Given the description of an element on the screen output the (x, y) to click on. 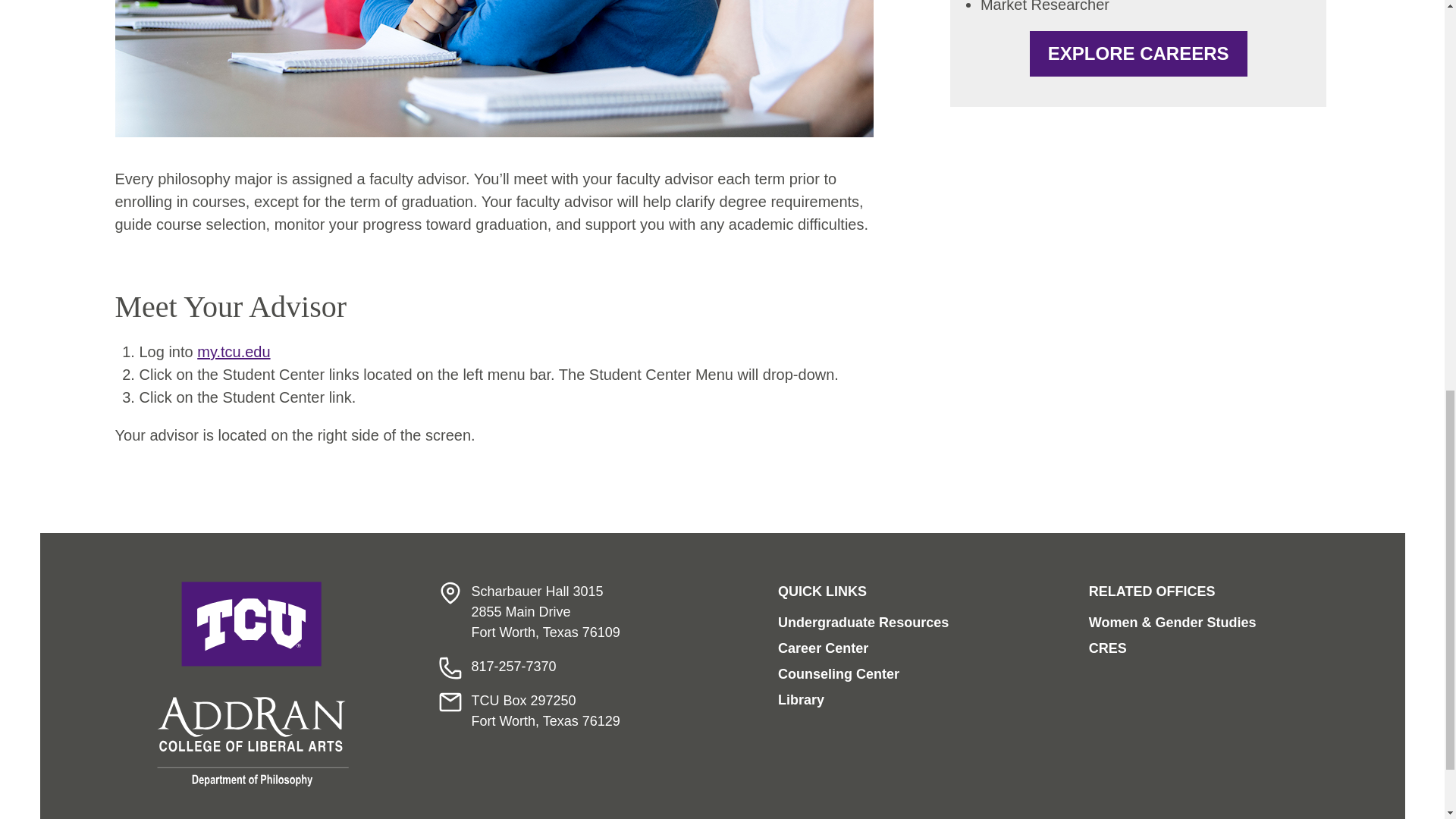
Career Center (822, 648)
CRES (1107, 648)
Counseling Center (838, 673)
Undergraduate Resources (863, 622)
my.tcu.edu (232, 351)
Library (800, 699)
EXPLORE CAREERS (1138, 53)
AddRan Department of Philosophy Homepage (253, 684)
